Given the description of an element on the screen output the (x, y) to click on. 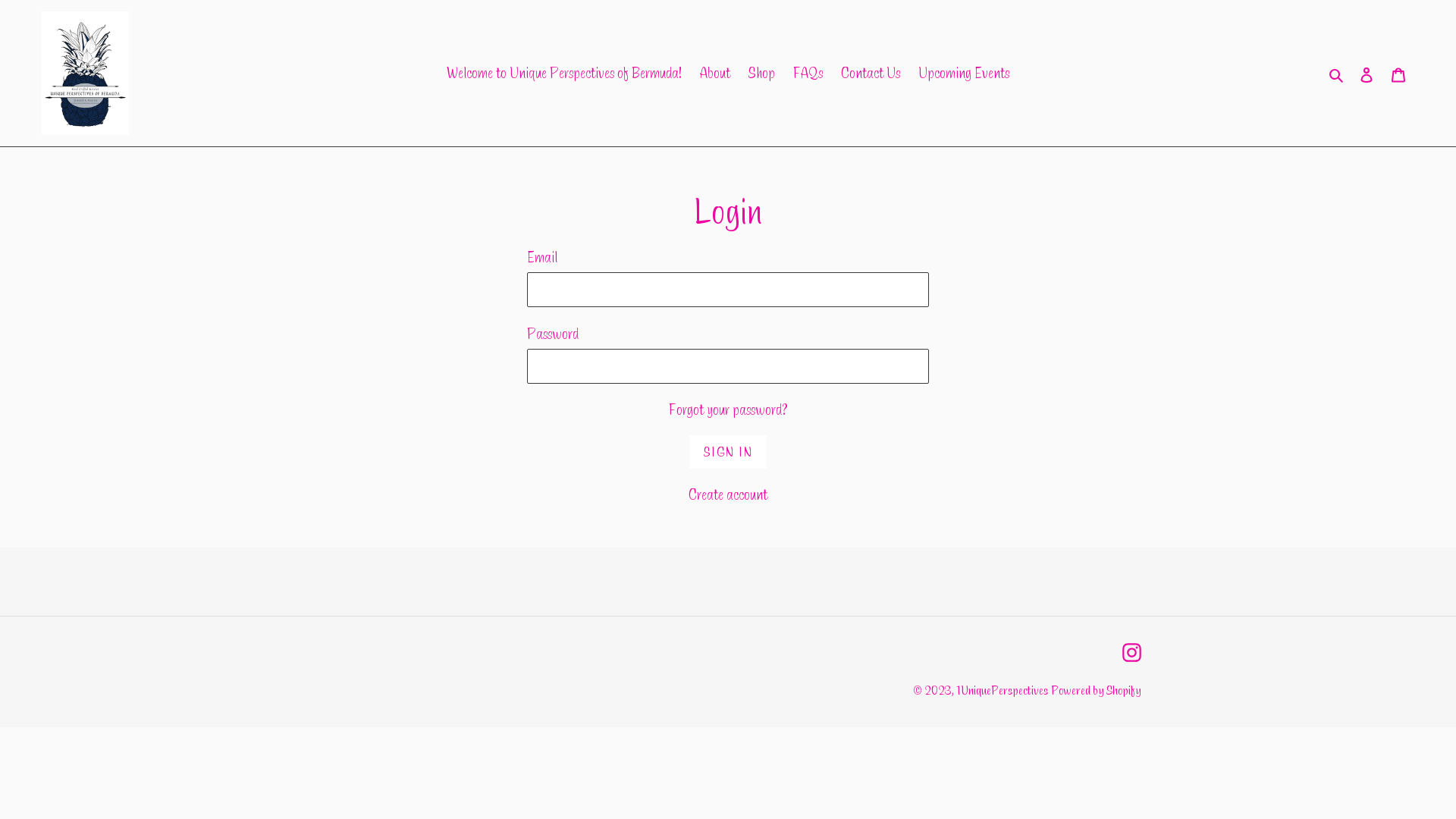
Shop Element type: text (761, 72)
Upcoming Events Element type: text (963, 72)
Welcome to Unique Perspectives of Bermuda! Element type: text (564, 72)
FAQs Element type: text (807, 72)
Cart Element type: text (1398, 72)
Powered by Shopify Element type: text (1096, 689)
Forgot your password? Element type: text (727, 409)
Contact Us Element type: text (870, 72)
Log in Element type: text (1366, 72)
Instagram Element type: text (1131, 650)
About Element type: text (714, 72)
Sign In Element type: text (727, 451)
Create account Element type: text (727, 494)
Search Element type: text (1337, 72)
1UniquePerspectives Element type: text (1002, 689)
